Given the description of an element on the screen output the (x, y) to click on. 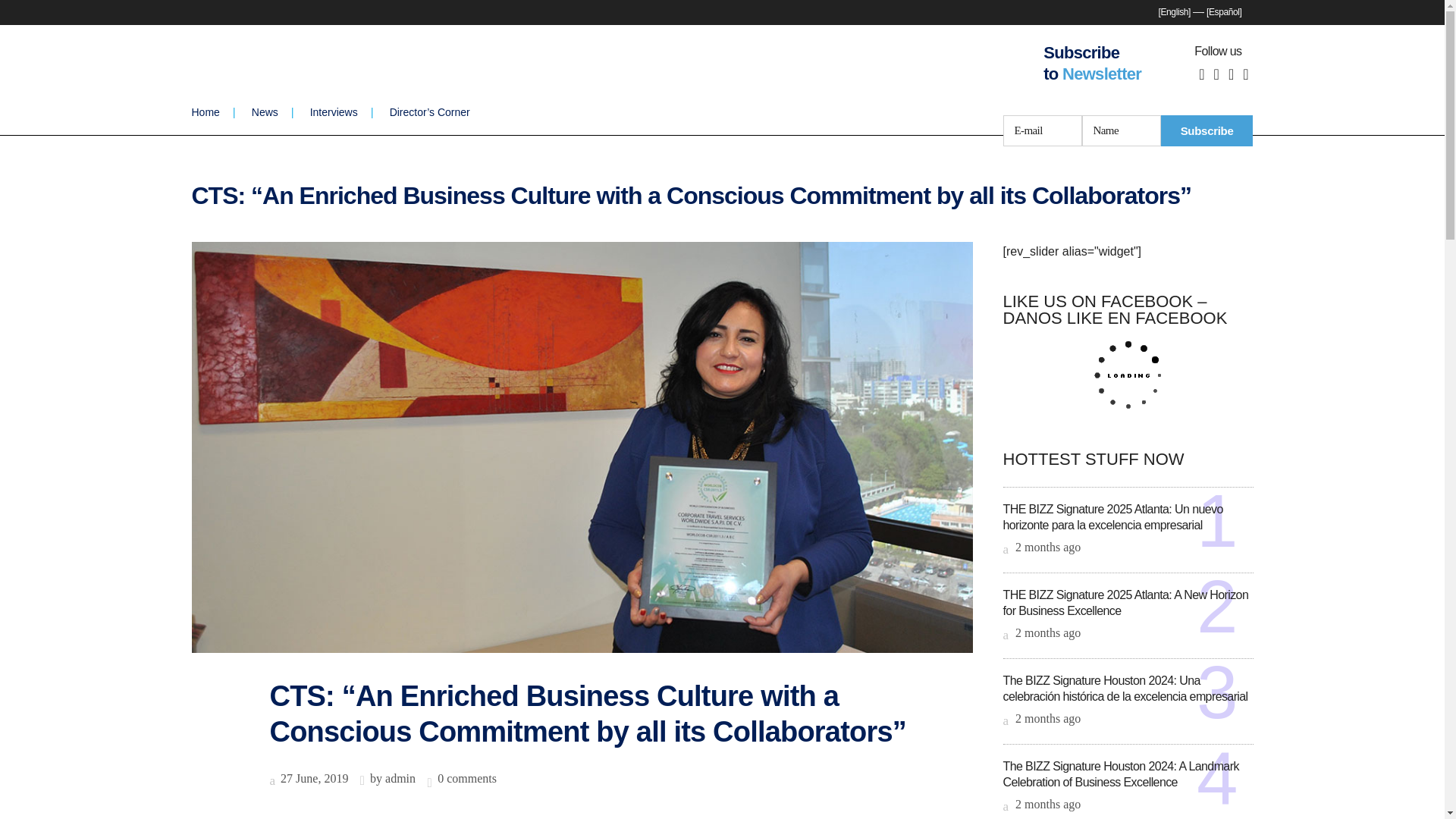
Home (211, 112)
Subscribe (1206, 130)
Subscribe (1206, 130)
admin (399, 778)
0 comments (467, 778)
27 June, 2019 (309, 778)
Interviews (333, 112)
News (264, 112)
